Given the description of an element on the screen output the (x, y) to click on. 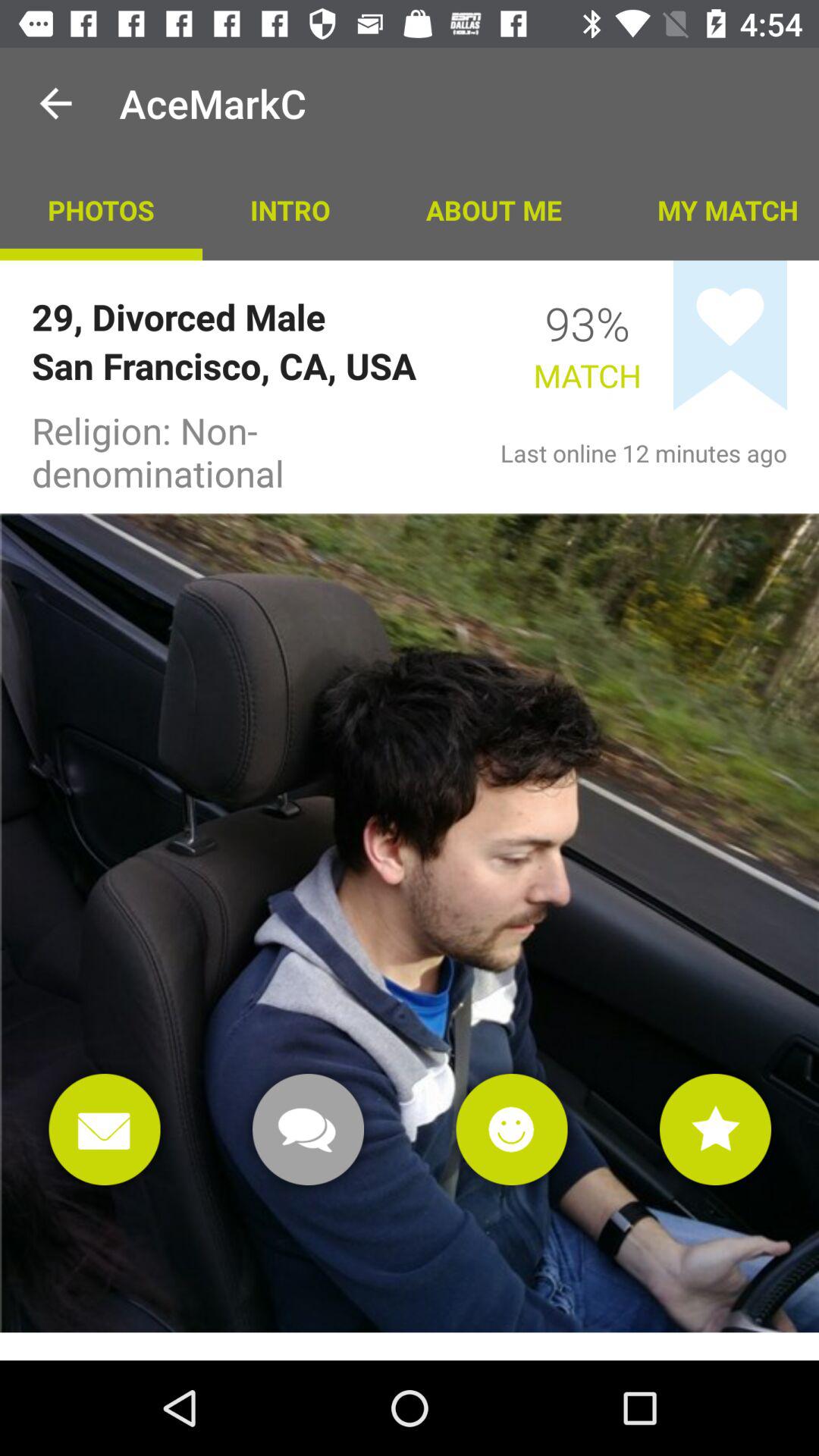
click the item below last online 12 (715, 1129)
